Given the description of an element on the screen output the (x, y) to click on. 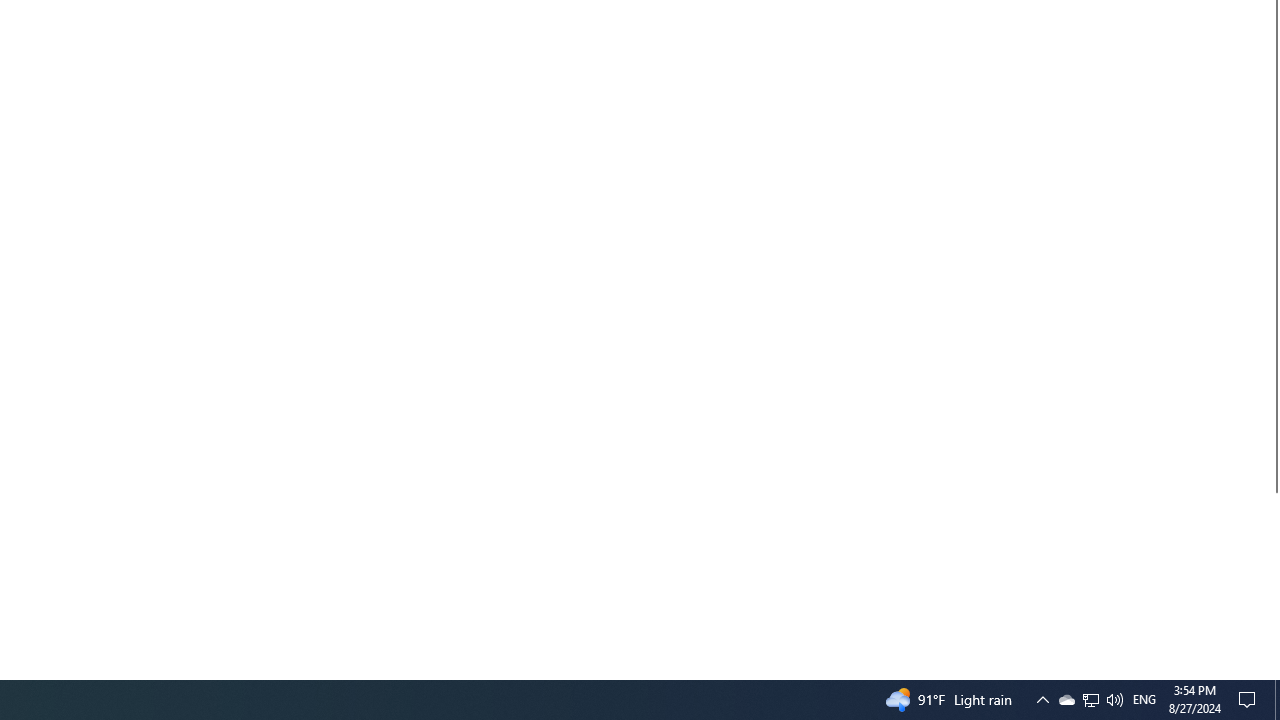
User Promoted Notification Area (1090, 699)
Notification Chevron (1042, 699)
Tray Input Indicator - English (United States) (1144, 699)
Q2790: 100% (1114, 699)
Vertical Small Increase (1066, 699)
Action Center, No new notifications (1091, 699)
Show desktop (1272, 671)
Vertical Large Increase (1250, 699)
